Given the description of an element on the screen output the (x, y) to click on. 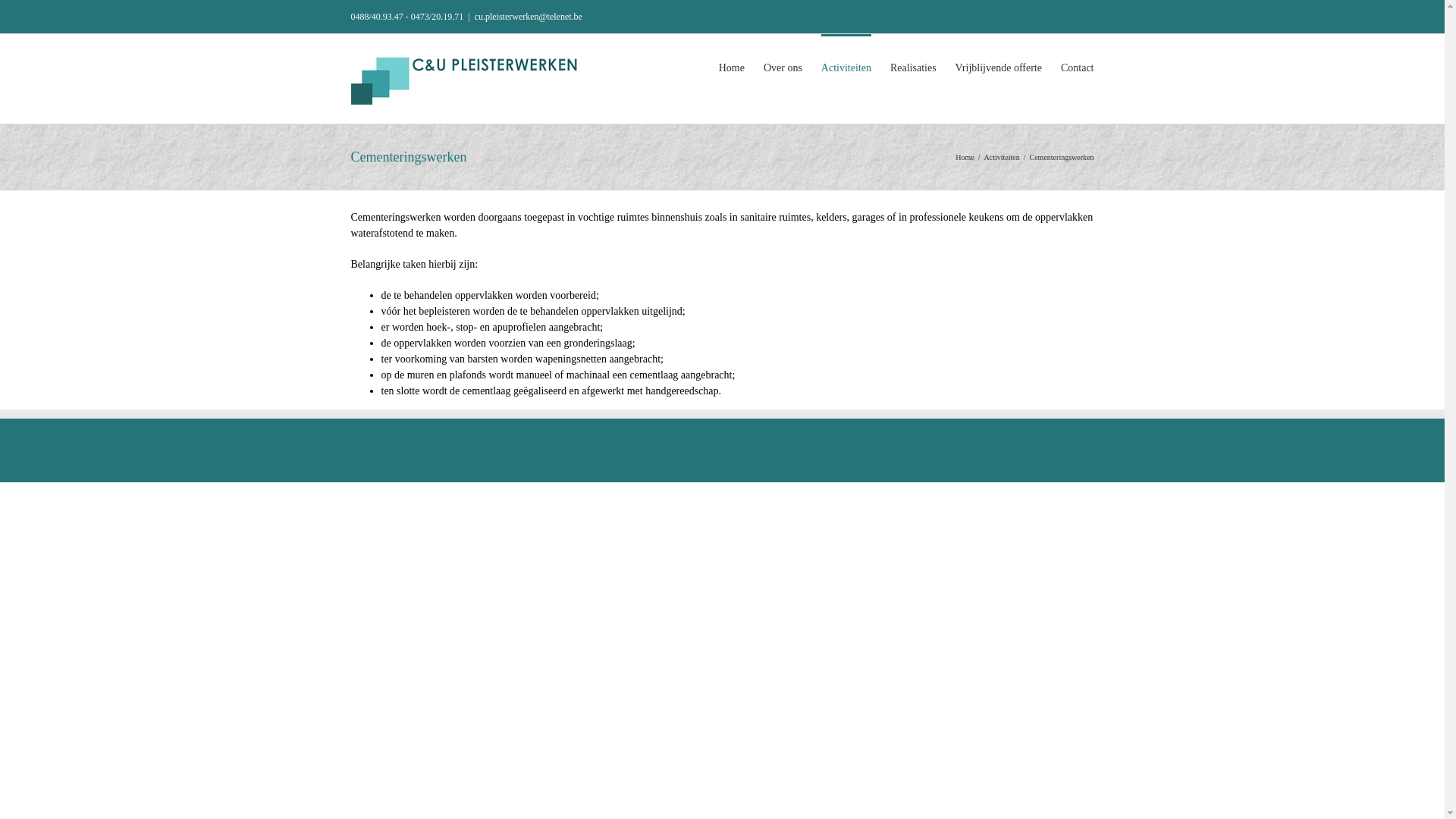
Over ons Element type: text (782, 66)
cu.pleisterwerken@telenet.be Element type: text (528, 16)
Contact Element type: text (1077, 66)
Home Element type: text (964, 157)
Vrijblijvende offerte Element type: text (998, 66)
Home Element type: text (731, 66)
Activiteiten Element type: text (1001, 157)
0473/20.19.71 Element type: text (437, 16)
Activiteiten Element type: text (846, 66)
Realisaties Element type: text (913, 66)
0488/40.93.47 Element type: text (376, 16)
